Given the description of an element on the screen output the (x, y) to click on. 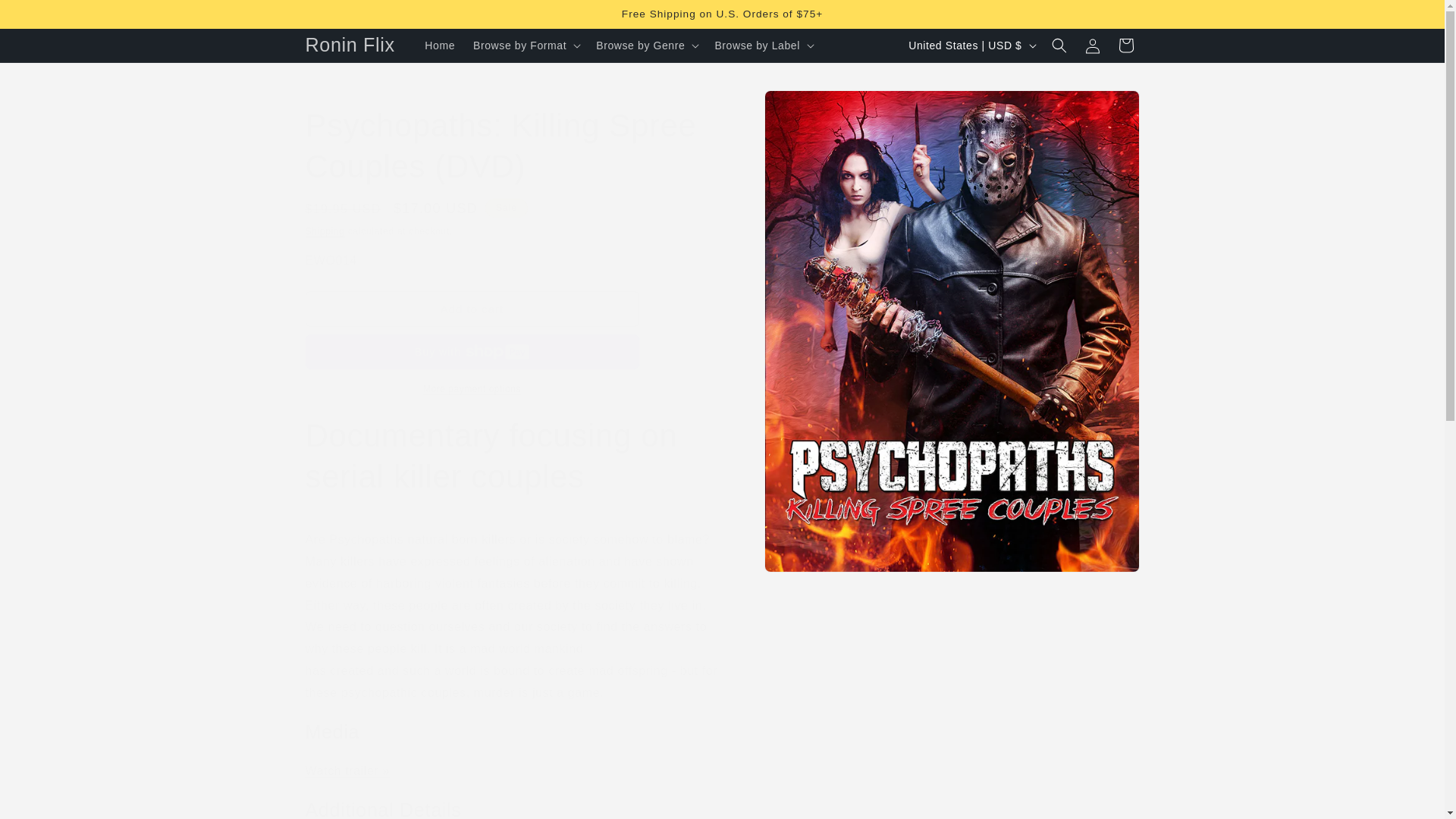
Skip to content (45, 17)
